Given the description of an element on the screen output the (x, y) to click on. 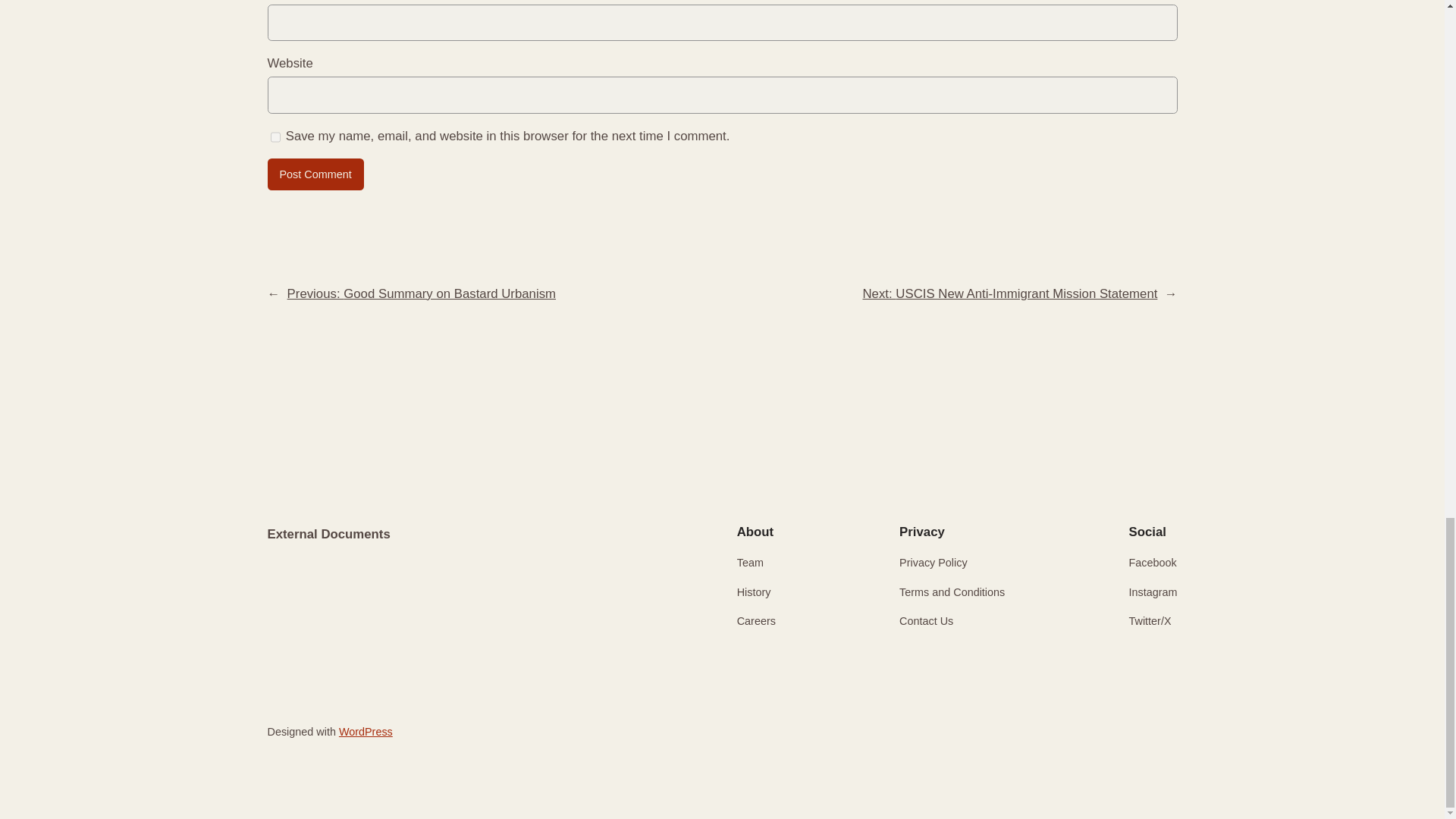
External Documents (328, 534)
Facebook (1152, 562)
WordPress (366, 731)
Team (749, 562)
Instagram (1152, 591)
Careers (756, 620)
Terms and Conditions (951, 591)
Next: USCIS New Anti-Immigrant Mission Statement (1009, 293)
Post Comment (314, 174)
Post Comment (314, 174)
